Given the description of an element on the screen output the (x, y) to click on. 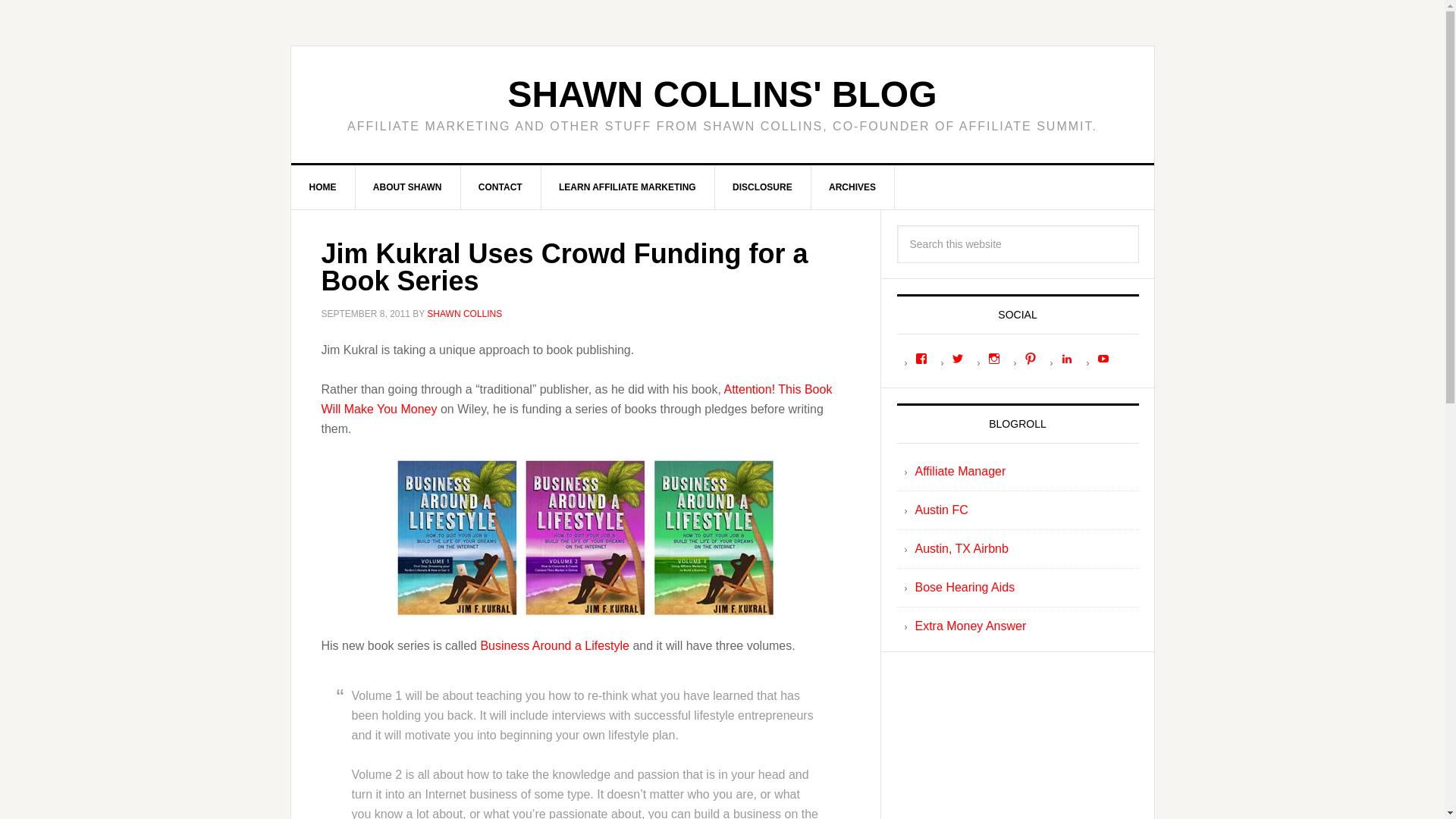
Bose Hearing Aids (964, 586)
Austin, TX Airbnb (960, 548)
LEARN AFFILIATE MARKETING (627, 187)
HOME (323, 187)
SHAWN COLLINS' BLOG (721, 94)
Austin FC (941, 509)
DISCLOSURE (762, 187)
CONTACT (500, 187)
Business Around a Lifestyle (554, 644)
